Given the description of an element on the screen output the (x, y) to click on. 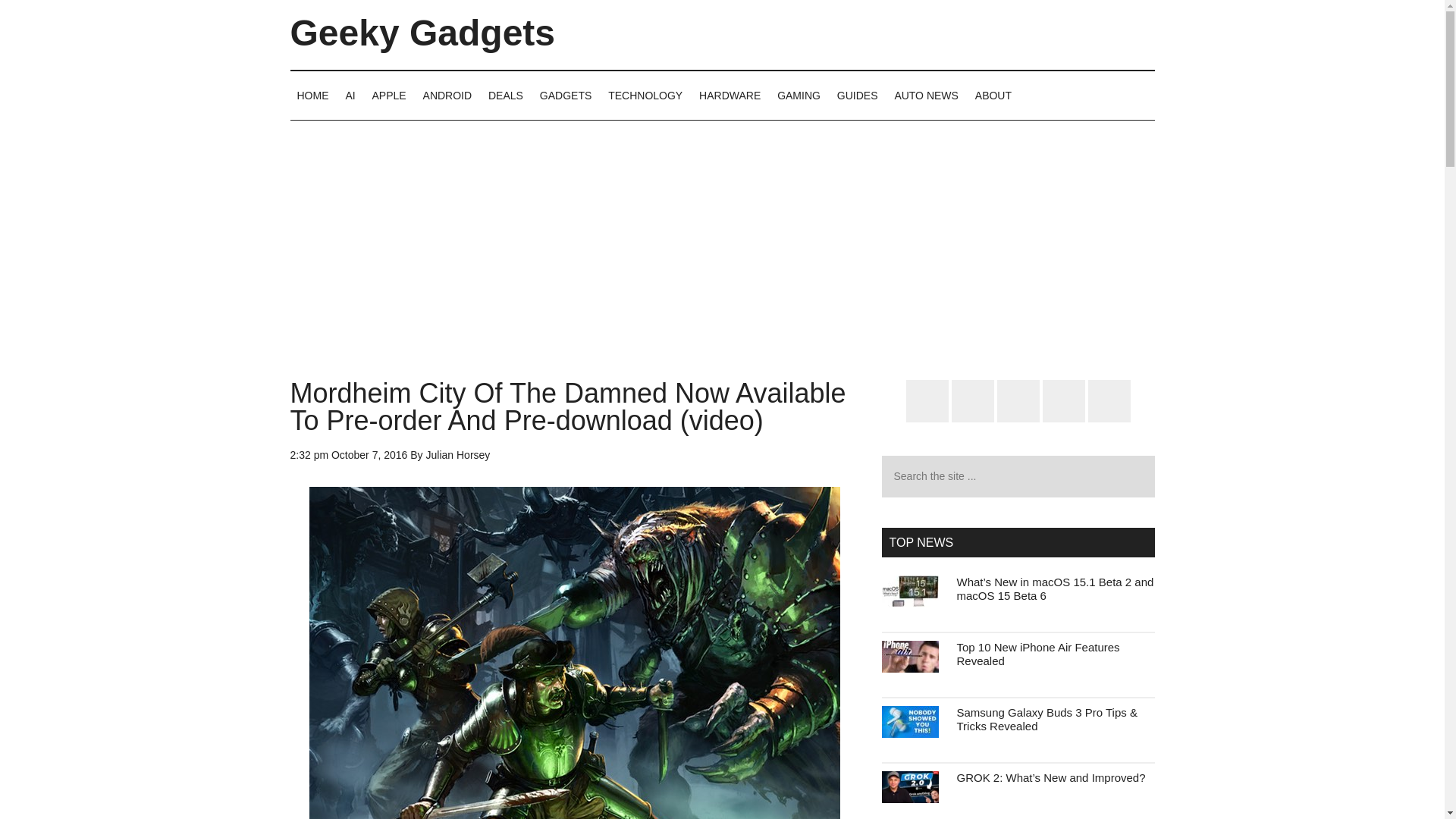
HOME (311, 95)
HARDWARE (730, 95)
ABOUT (992, 95)
GAMING (798, 95)
AUTO NEWS (925, 95)
Geeky Gadgets (421, 33)
About Geeky Gadgets (992, 95)
GUIDES (857, 95)
